Given the description of an element on the screen output the (x, y) to click on. 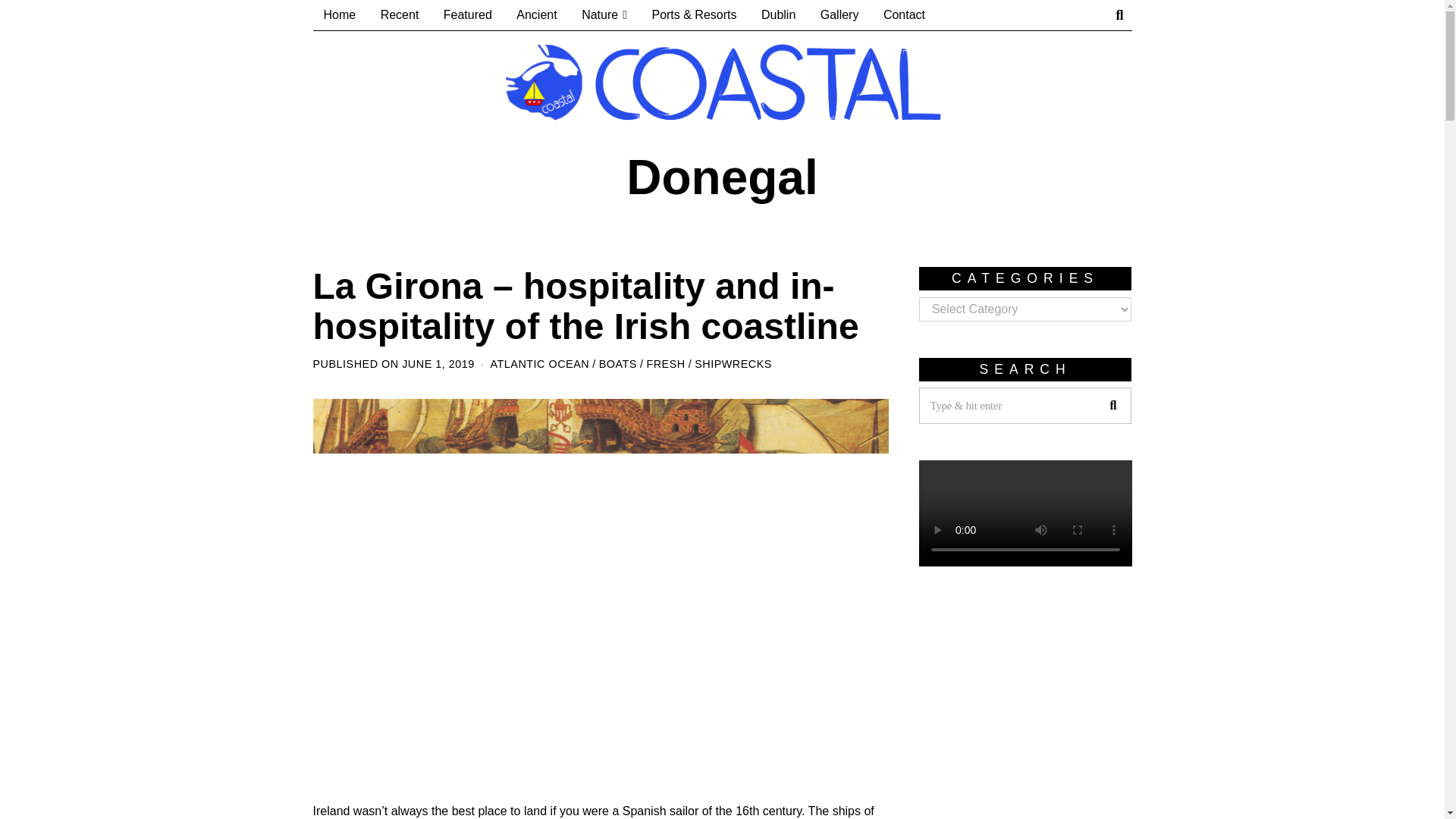
FRESH (665, 363)
ATLANTIC OCEAN (539, 363)
Home (339, 15)
BOATS (617, 363)
Featured (467, 15)
Contact (904, 15)
Gallery (839, 15)
Dublin (778, 15)
SHIPWRECKS (732, 363)
Ancient (536, 15)
